Given the description of an element on the screen output the (x, y) to click on. 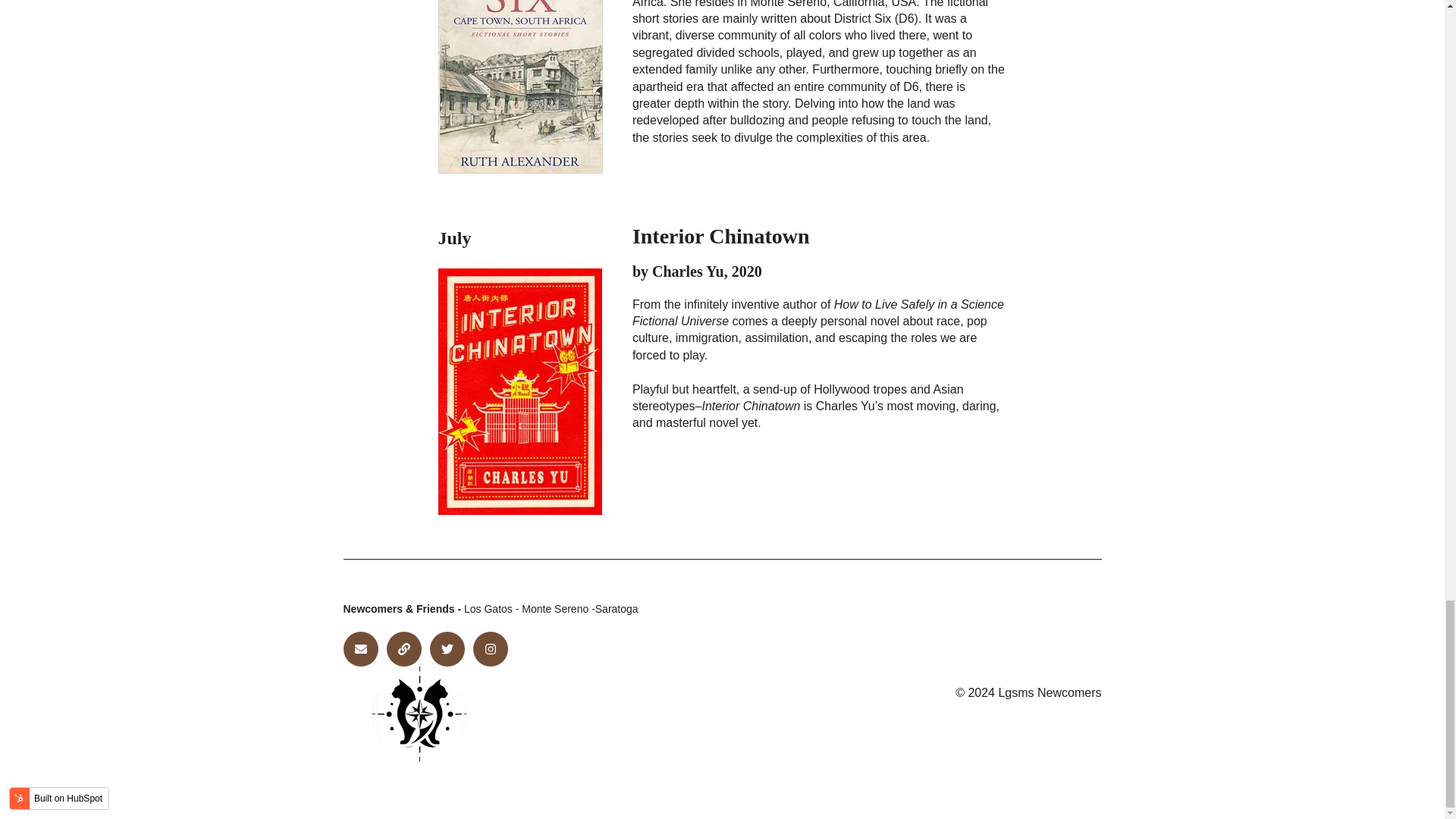
Final-Dall-e-logo-Cleaned-1 (418, 713)
